Given the description of an element on the screen output the (x, y) to click on. 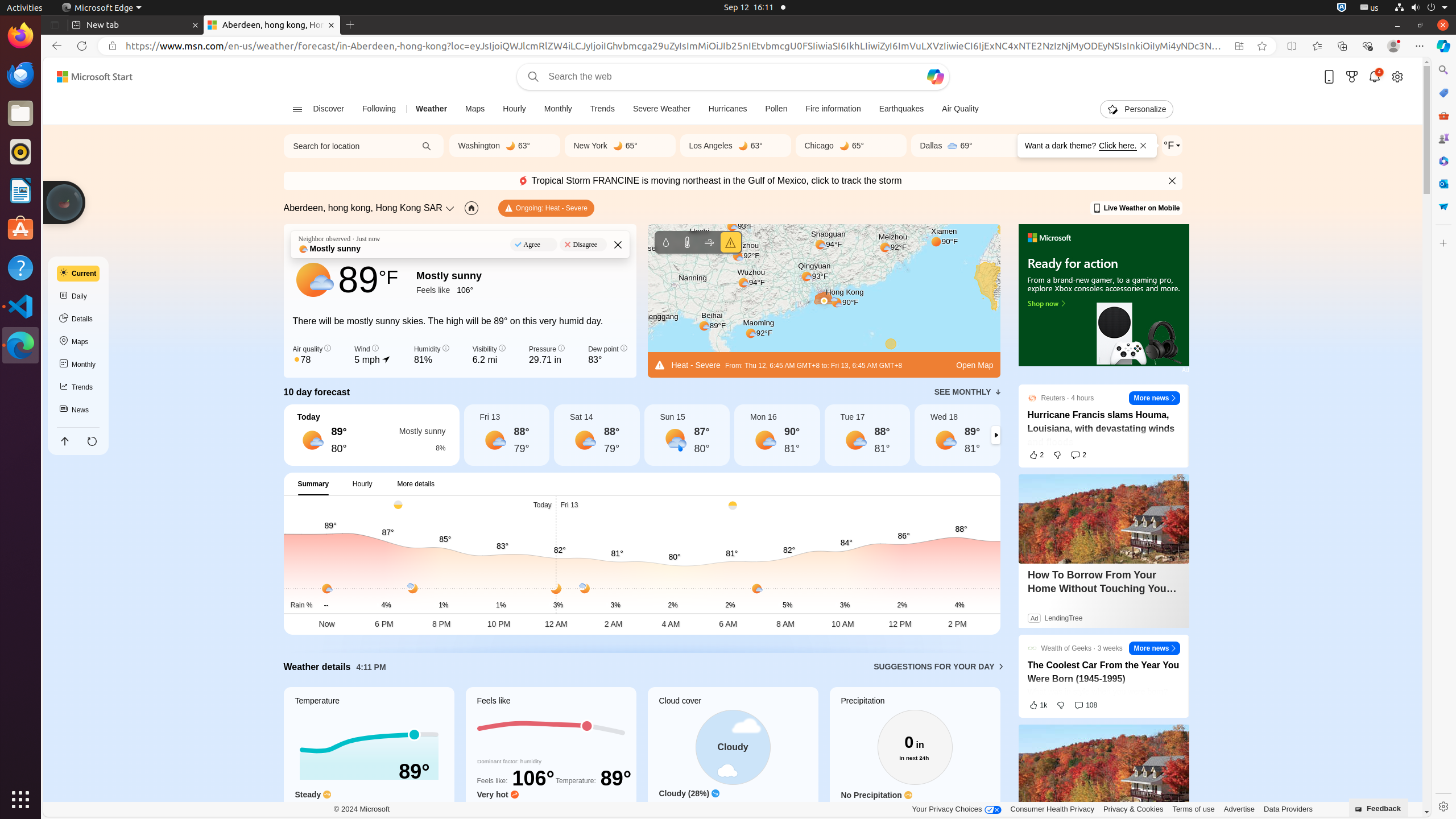
Temperature Element type: push-button (686, 242)
Personalize Element type: push-button (1136, 108)
Rhythmbox Element type: push-button (20, 151)
Microsoft rewards Element type: push-button (1351, 76)
Like Element type: push-button (1035, 454)
